Given the description of an element on the screen output the (x, y) to click on. 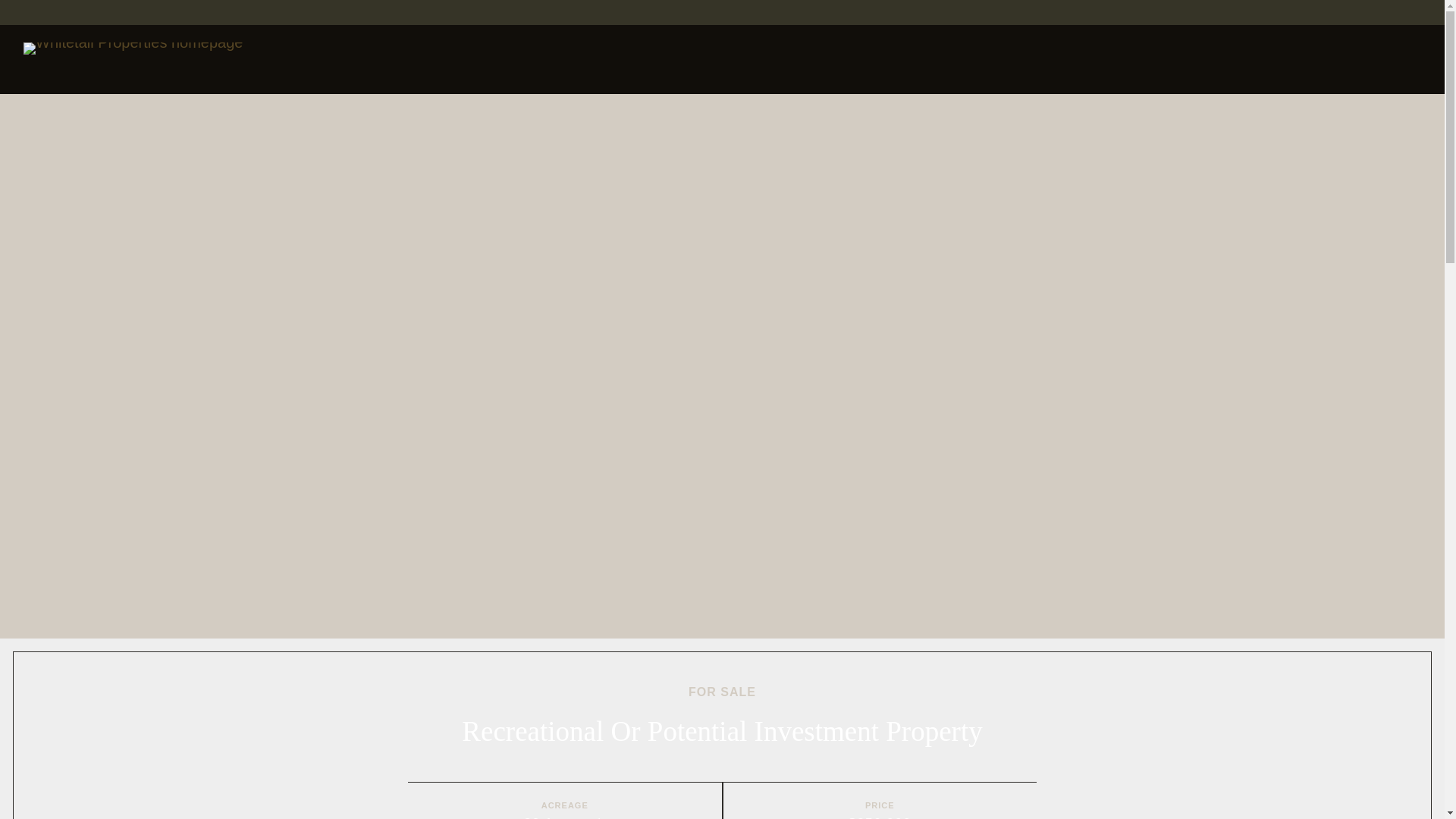
Whitetail Properties (133, 59)
